Given the description of an element on the screen output the (x, y) to click on. 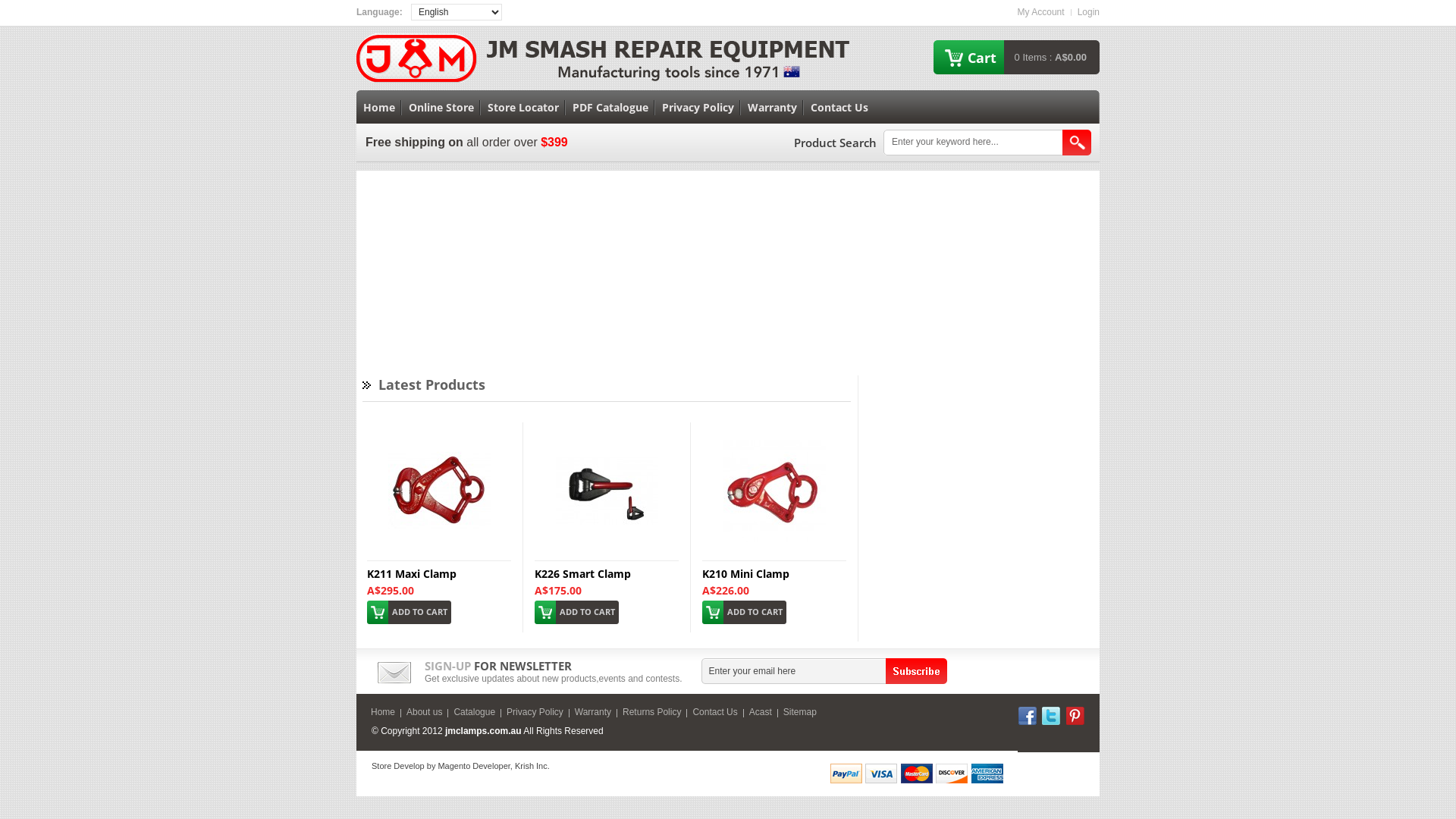
Acast Element type: text (760, 711)
K211 Maxi Clamp Element type: text (411, 573)
Contact Us Element type: text (839, 107)
Returns Policy Element type: text (651, 711)
Online Store Element type: text (440, 107)
My Account Element type: text (1040, 11)
Sign up for our newsletter Element type: hover (793, 670)
Catalogue Element type: text (474, 711)
Sitemap Element type: text (799, 711)
Contact Us Element type: text (714, 711)
Login Element type: text (1088, 11)
K210 Mini Clamp Element type: hover (774, 439)
K210 Mini Clamp Element type: text (745, 573)
Warranty Element type: text (771, 107)
Privacy Policy Element type: text (697, 107)
PDF Catalogue Element type: text (610, 107)
GO Element type: text (1076, 142)
Home Element type: text (378, 107)
SUBMIT Element type: text (916, 671)
Home Element type: text (382, 711)
Cart Element type: text (981, 57)
Privacy Policy Element type: text (534, 711)
K211 Maxi Clamp  Element type: hover (439, 439)
ADD TO CART Element type: text (744, 616)
About us Element type: text (424, 711)
Store Develop by Magento Developer, Krish Inc. Element type: text (460, 765)
Warranty Element type: text (592, 711)
ADD TO CART Element type: text (409, 616)
JM Smash Repair Equipment Element type: hover (416, 57)
K226 Smart Clamp Element type: hover (606, 439)
K226 Smart Clamp Element type: text (582, 573)
ADD TO CART Element type: text (576, 616)
Store Locator Element type: text (522, 107)
